Given the description of an element on the screen output the (x, y) to click on. 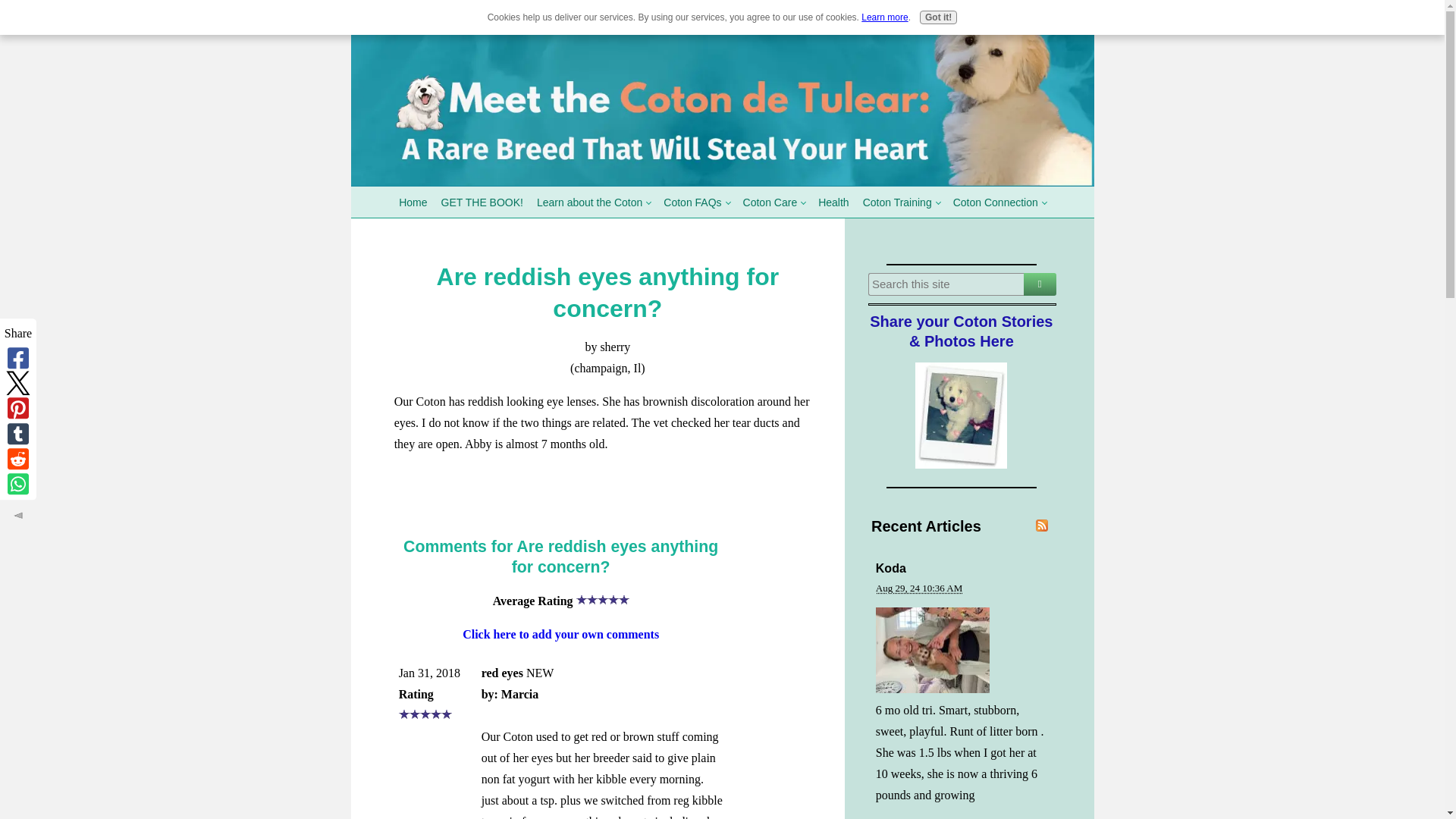
GET THE BOOK! (481, 201)
Home (412, 201)
Health (833, 201)
Go to The Complete Coton de Tulear Guide (721, 181)
2024-08-29T10:36:47-0400 (919, 587)
Advertisement (606, 487)
